Given the description of an element on the screen output the (x, y) to click on. 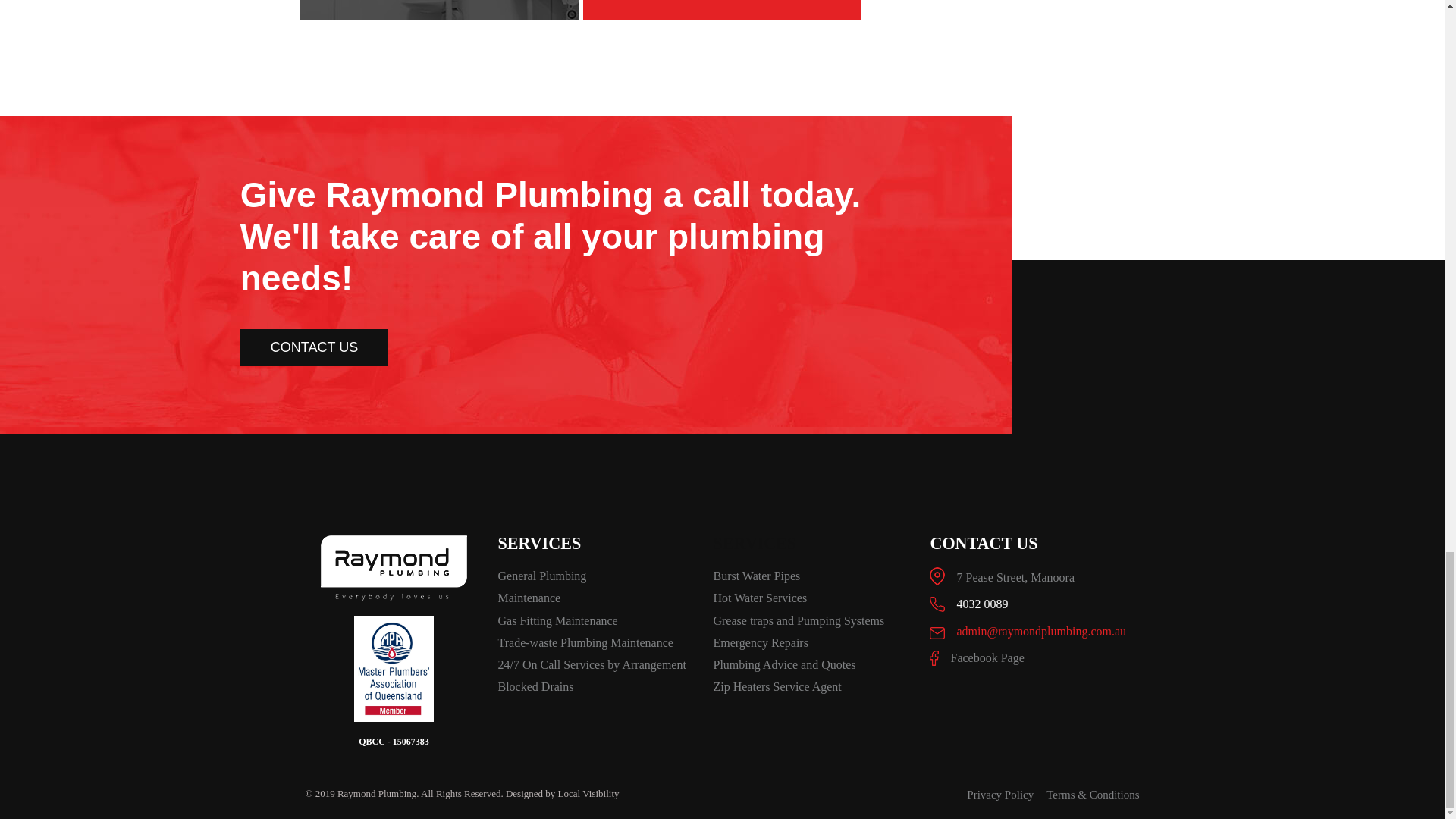
Trade-waste Plumbing Maintenance (597, 642)
General Plumbing (597, 575)
Gas Fitting Maintenance (597, 620)
Blocked Drains (597, 686)
Hot Water Services (813, 597)
CONTACT US (314, 347)
Burst Water Pipes (813, 575)
Maintenance (597, 597)
